Given the description of an element on the screen output the (x, y) to click on. 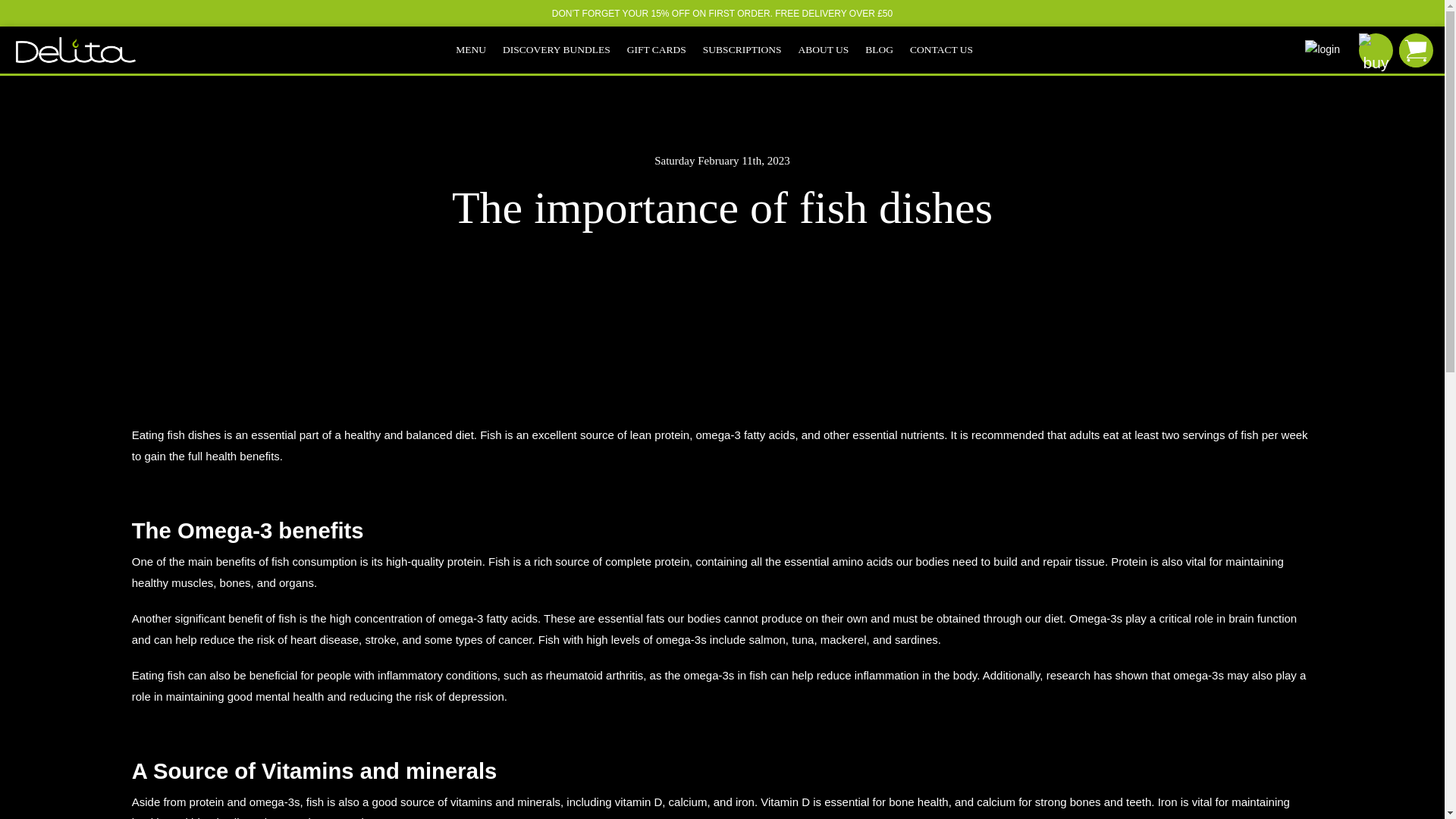
DISCOVERY BUNDLES (564, 49)
GIFT CARDS (665, 49)
MENU (478, 49)
ABOUT US (830, 49)
BLOG (887, 49)
SUBSCRIPTIONS (750, 49)
CONTACT US (950, 49)
